Given the description of an element on the screen output the (x, y) to click on. 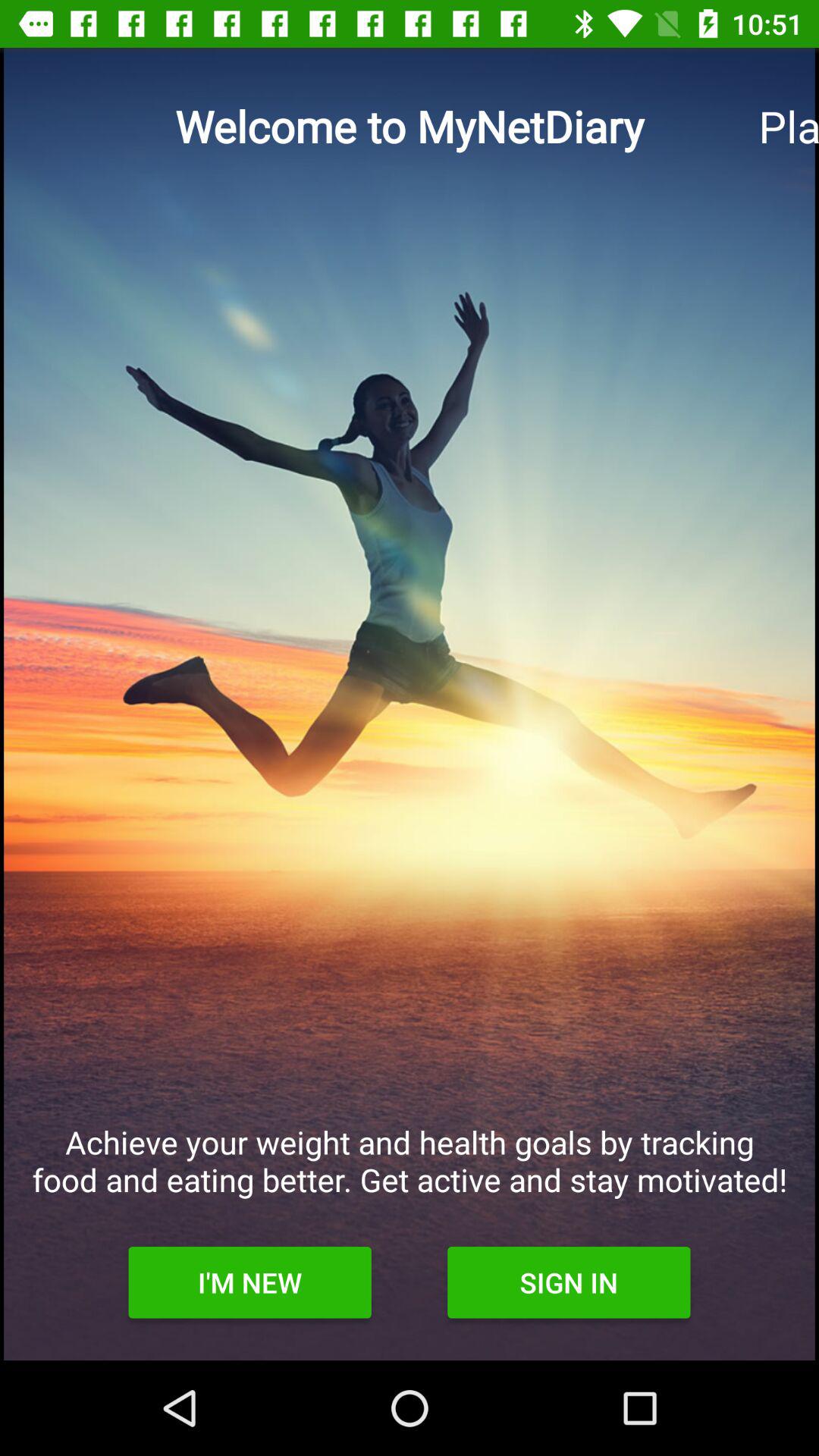
tap the i'm new (249, 1282)
